Given the description of an element on the screen output the (x, y) to click on. 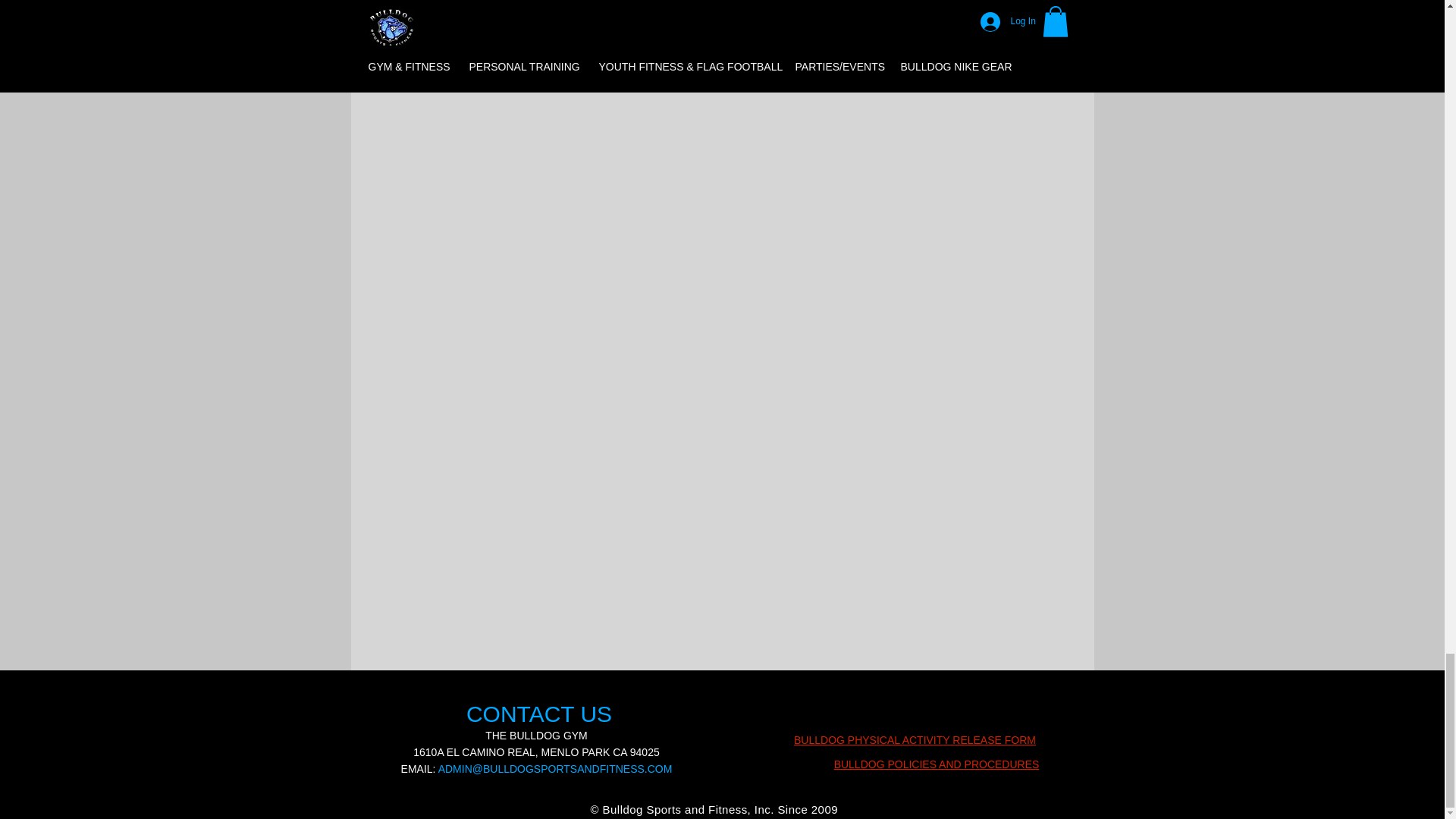
1610A EL CAMINO REAL, MENLO PARK CA 94025 (536, 752)
THE BULLDOG GYM (536, 735)
BULLDOG PHYSICAL ACTIVITY RELEASE FORM (914, 739)
BULLDOG POLICIES AND PROCEDURES (936, 764)
